Given the description of an element on the screen output the (x, y) to click on. 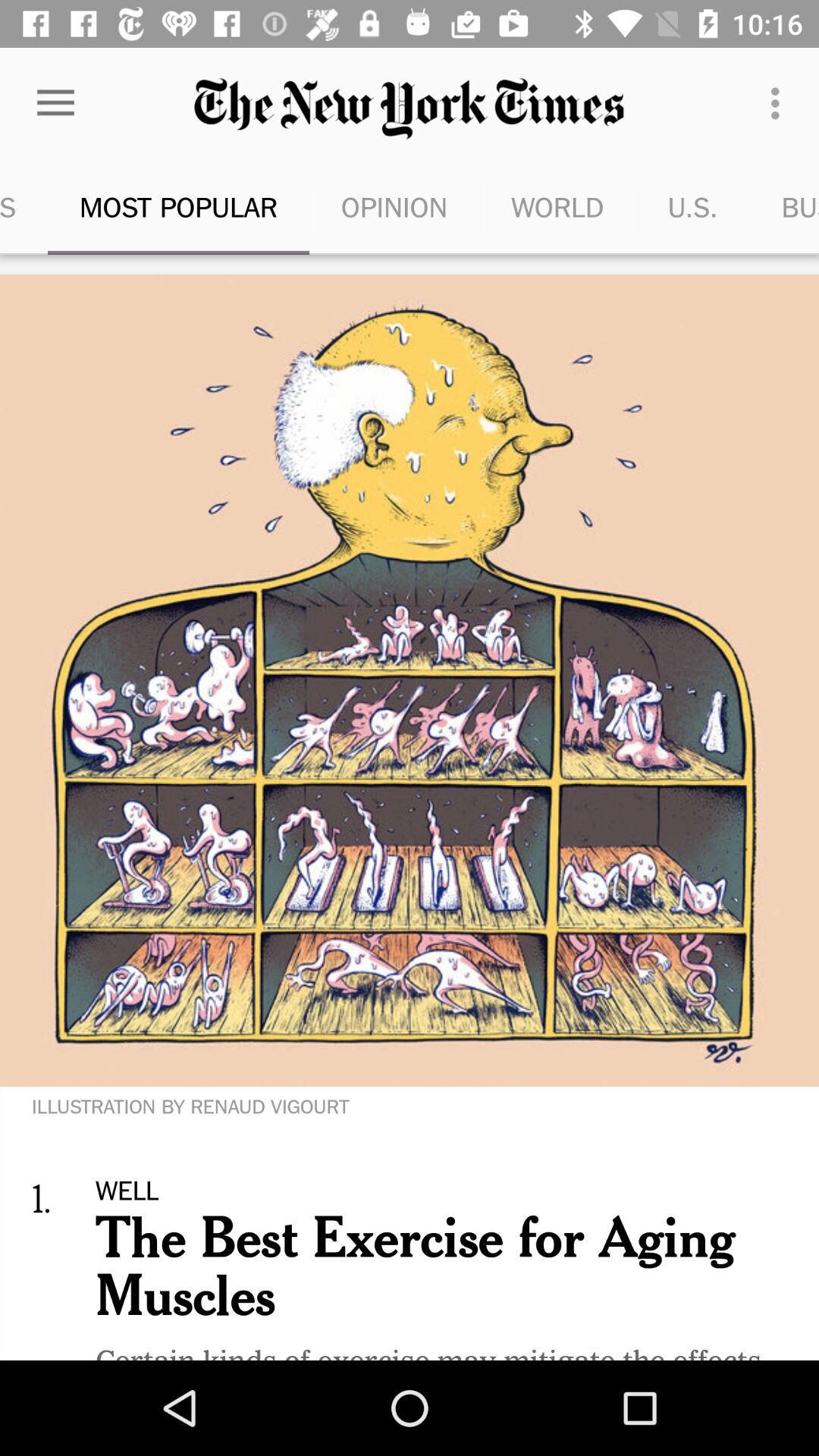
press item to the left of the world icon (394, 206)
